Given the description of an element on the screen output the (x, y) to click on. 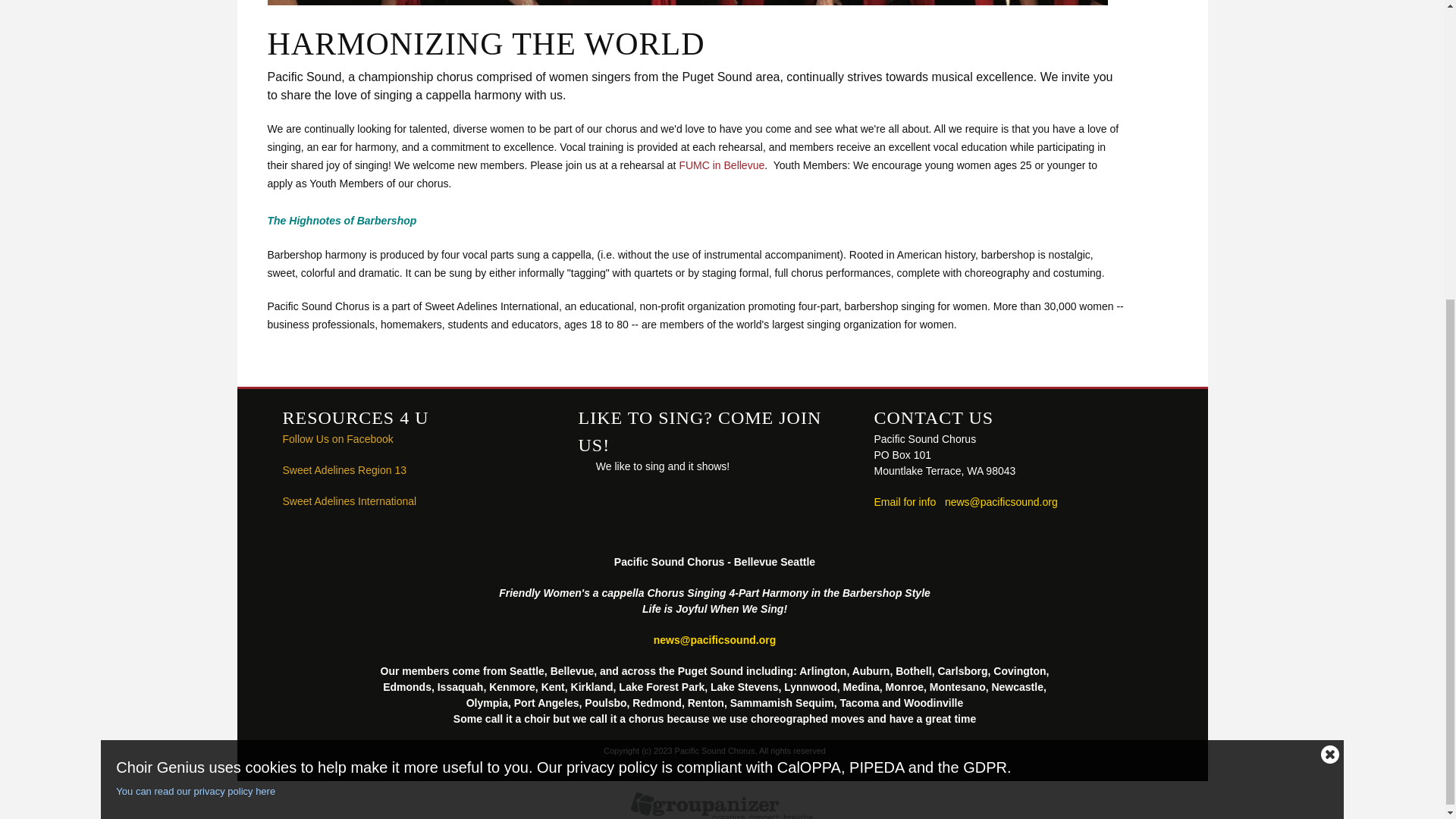
Sweet Adelines Region 13 (344, 469)
Sweet Adelines International (349, 500)
You can read our privacy policy here (714, 322)
Email for info (904, 501)
Follow Us on Facebook (337, 439)
Close cookie notice (1329, 284)
FUMC in Bellevue (721, 164)
